Given the description of an element on the screen output the (x, y) to click on. 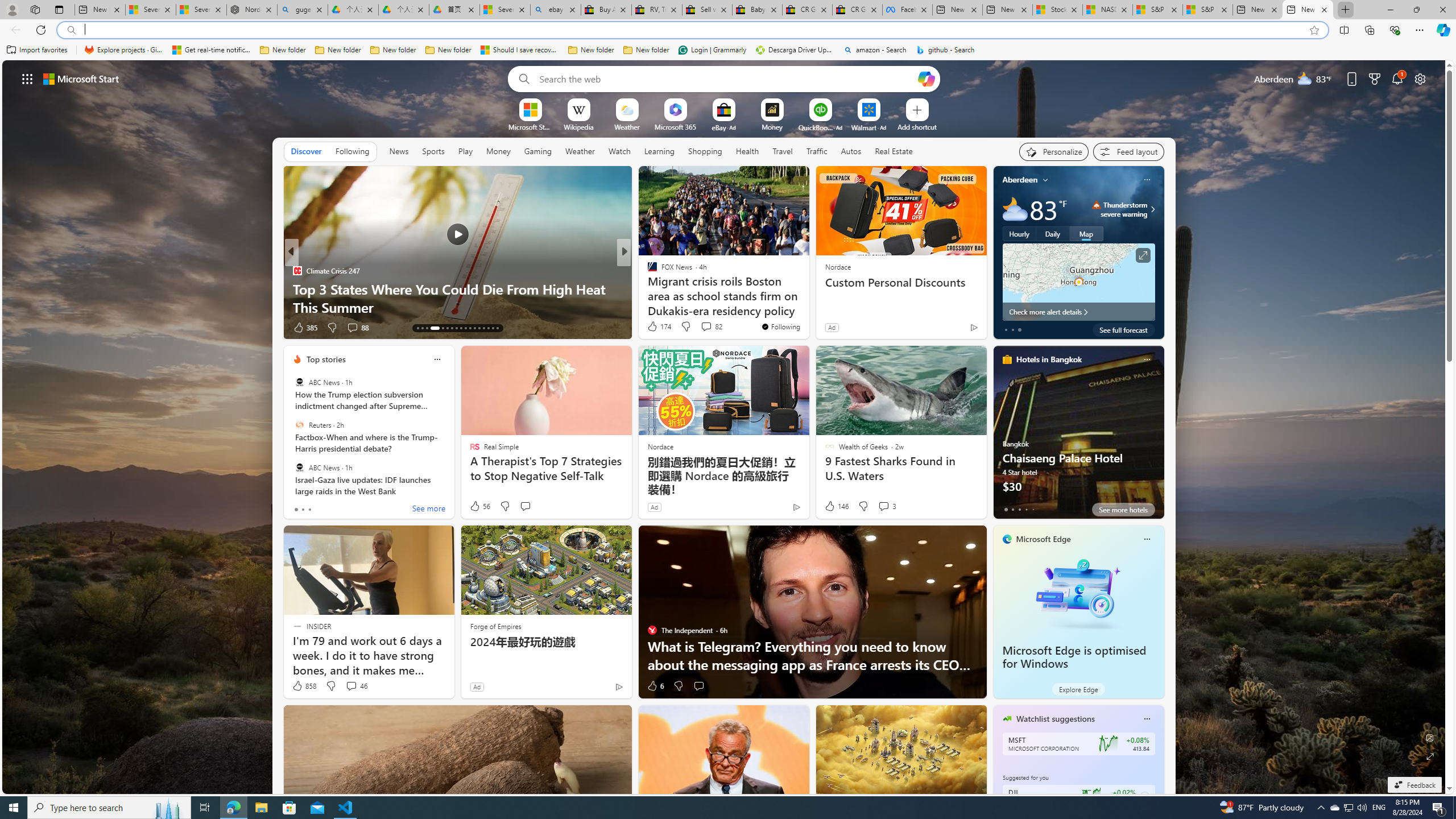
View comments 2 Comment (702, 327)
View comments 19 Comment (704, 327)
Daily (1052, 233)
Wikipedia (578, 126)
Weather (579, 151)
174 Like (658, 326)
CNBC (647, 270)
Play (465, 151)
Aberdeen (1019, 179)
Traffic (816, 151)
